Given the description of an element on the screen output the (x, y) to click on. 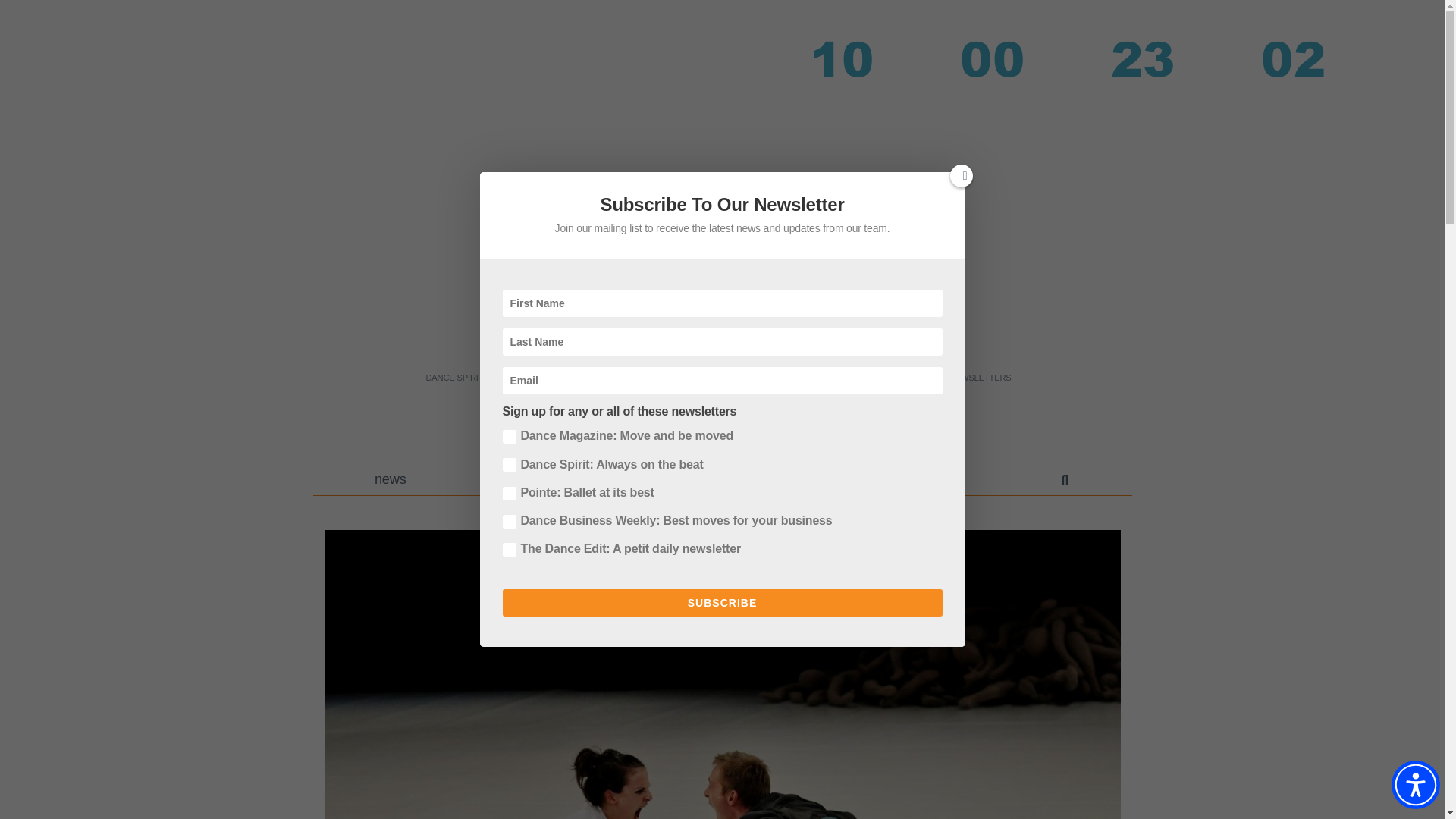
THE DANCE EDIT (715, 377)
career (522, 480)
DANCE SPIRIT (454, 377)
DANCE TEACHER (535, 377)
NEWSLETTERS (980, 377)
more (791, 480)
subscribe (934, 480)
COLLEGE GUIDE (897, 377)
EVENTS CALENDAR (807, 377)
guides (658, 480)
Accessibility Menu (1415, 784)
POINTE MAGAZINE (625, 377)
news (390, 480)
